Given the description of an element on the screen output the (x, y) to click on. 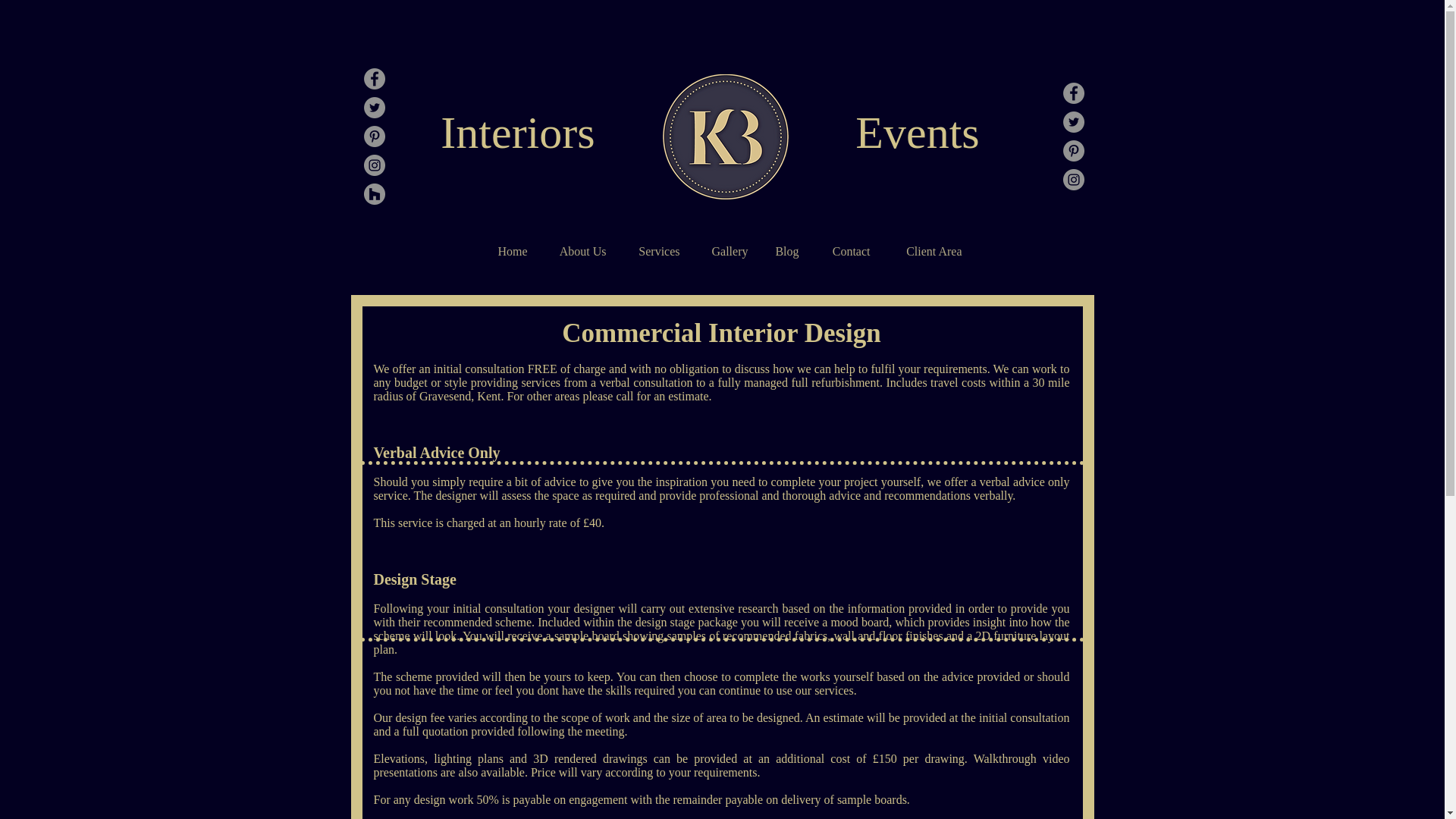
Services (653, 251)
Gallery (725, 251)
About Us (577, 251)
Blog (785, 251)
Client Area (926, 251)
Contact (844, 251)
Home (507, 251)
